Given the description of an element on the screen output the (x, y) to click on. 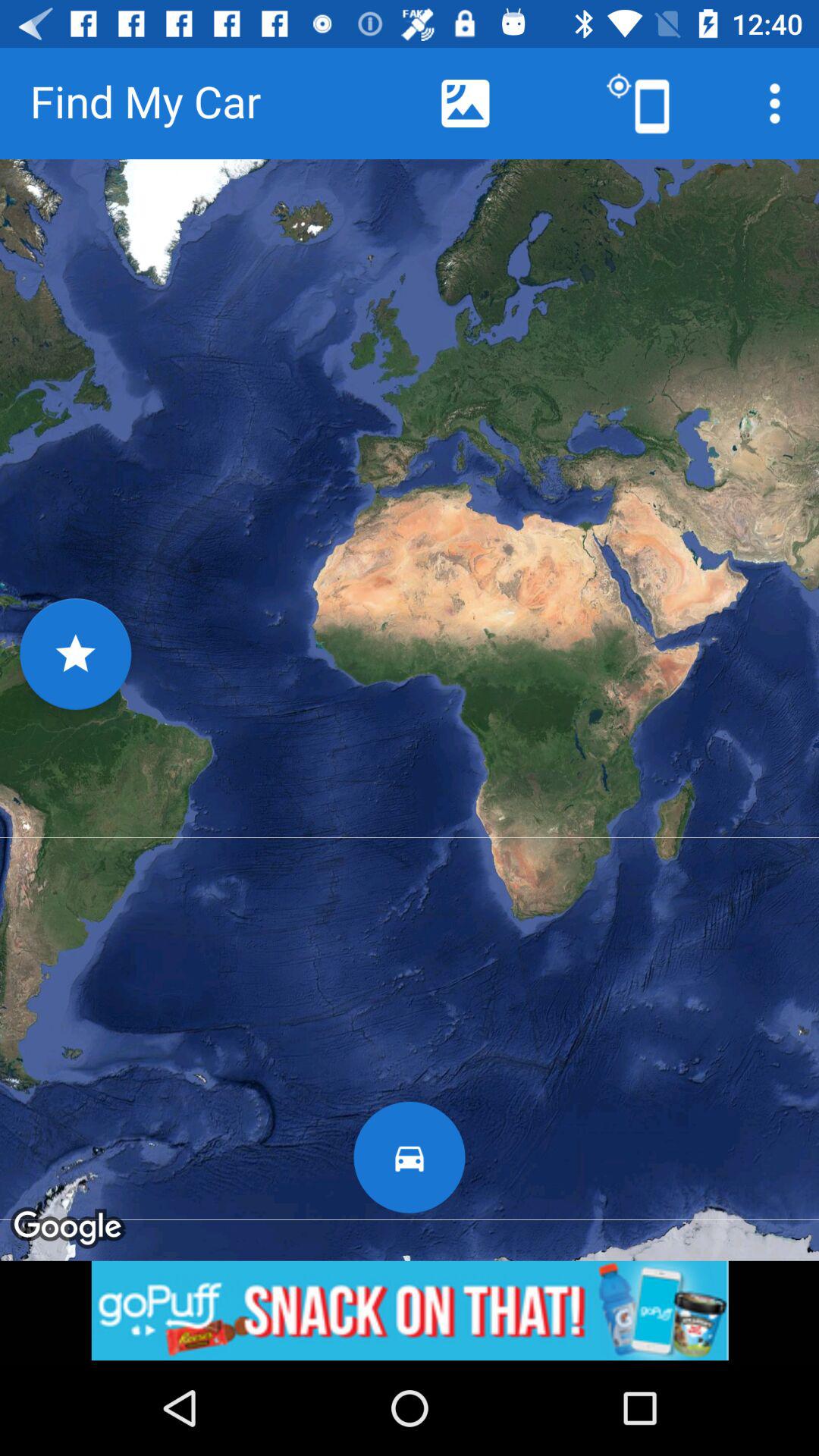
go to advertisement (409, 1310)
